Given the description of an element on the screen output the (x, y) to click on. 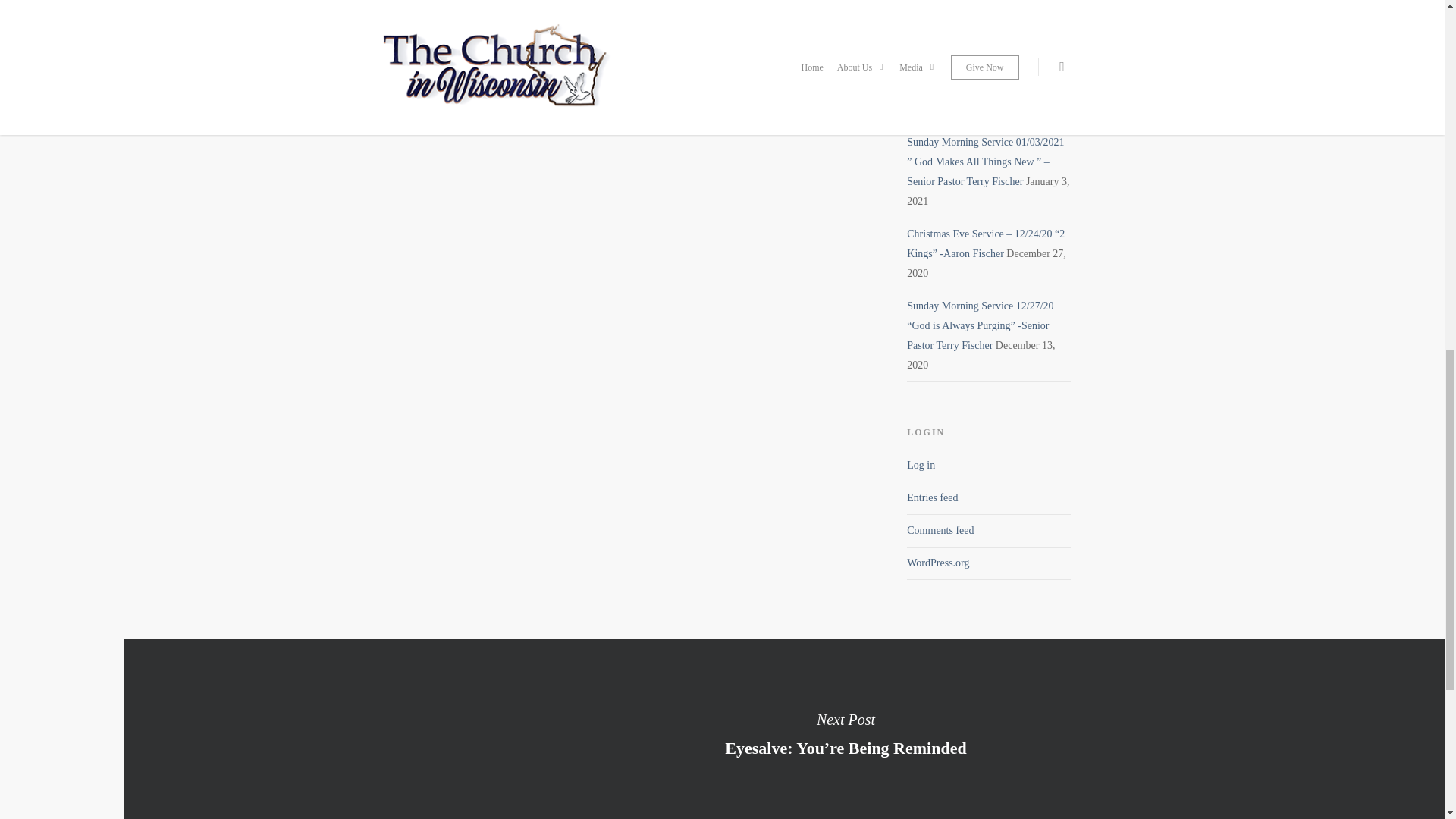
Entries feed (932, 497)
Comments feed (940, 530)
Log in (920, 464)
WordPress.org (938, 562)
